Given the description of an element on the screen output the (x, y) to click on. 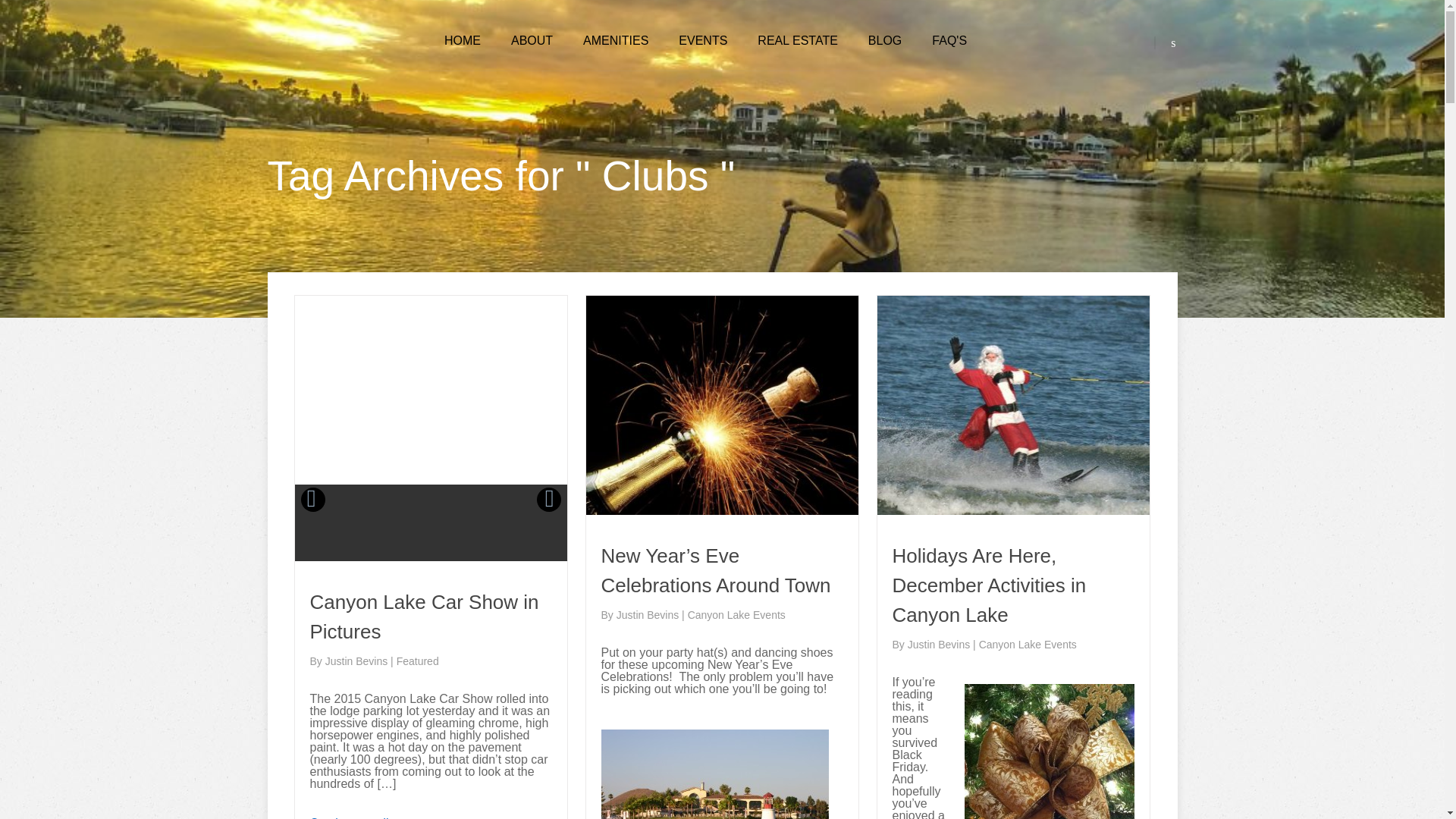
HOME (462, 40)
ABOUT (532, 40)
Justin Bevins (939, 644)
Continue reading (354, 817)
Canyon Lake Events (1027, 644)
Canyon Lake Events (736, 613)
Justin Bevins (357, 661)
BLOG (884, 40)
Justin Bevins (648, 613)
REAL ESTATE (797, 40)
EVENTS (702, 40)
Holidays Are Here, December Activities in Canyon Lake (988, 585)
Featured (417, 661)
FAQ'S (948, 40)
Canyon Lake Car Show in Pictures (423, 615)
